Given the description of an element on the screen output the (x, y) to click on. 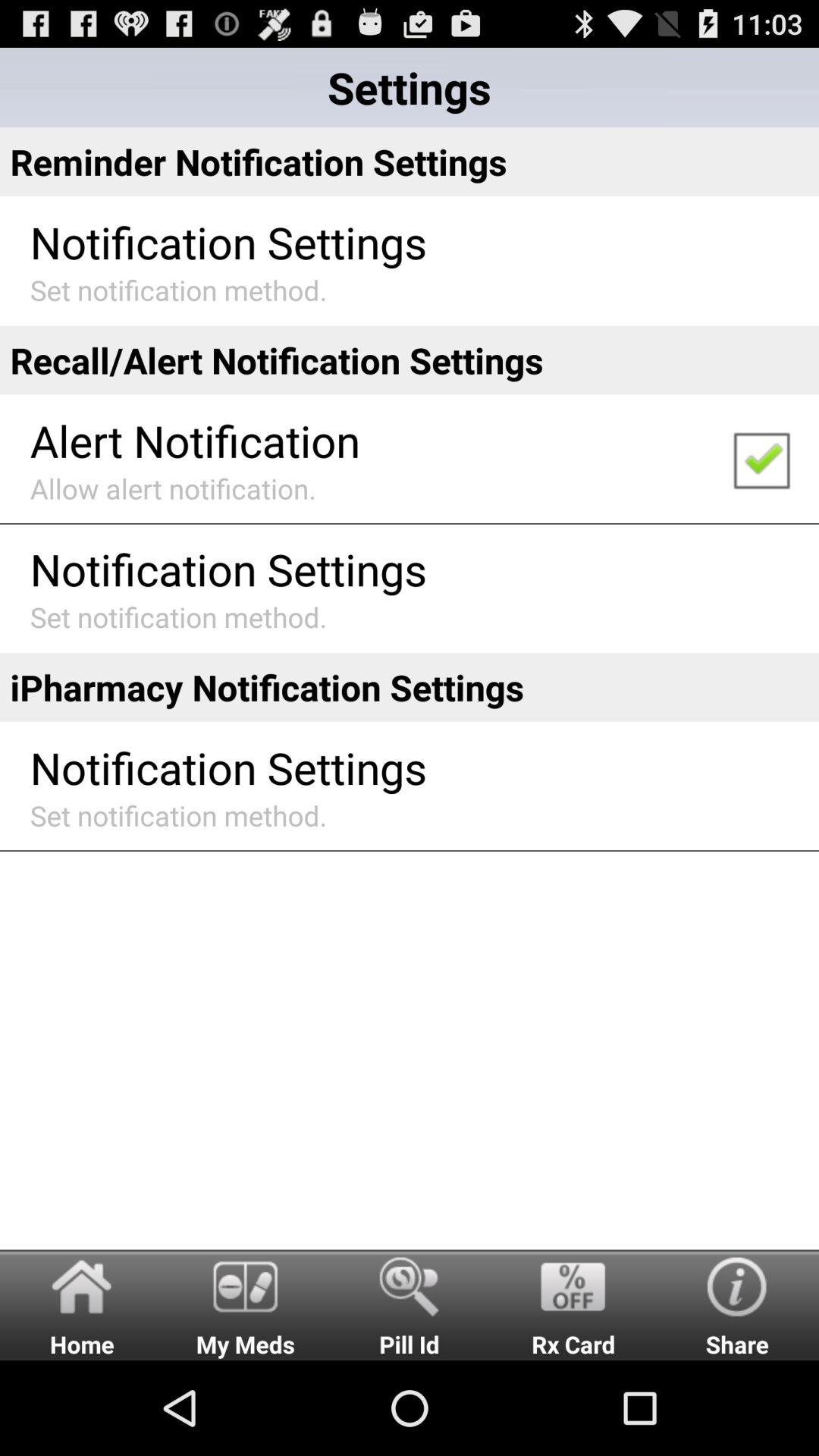
turn off item above alert notification icon (409, 359)
